Given the description of an element on the screen output the (x, y) to click on. 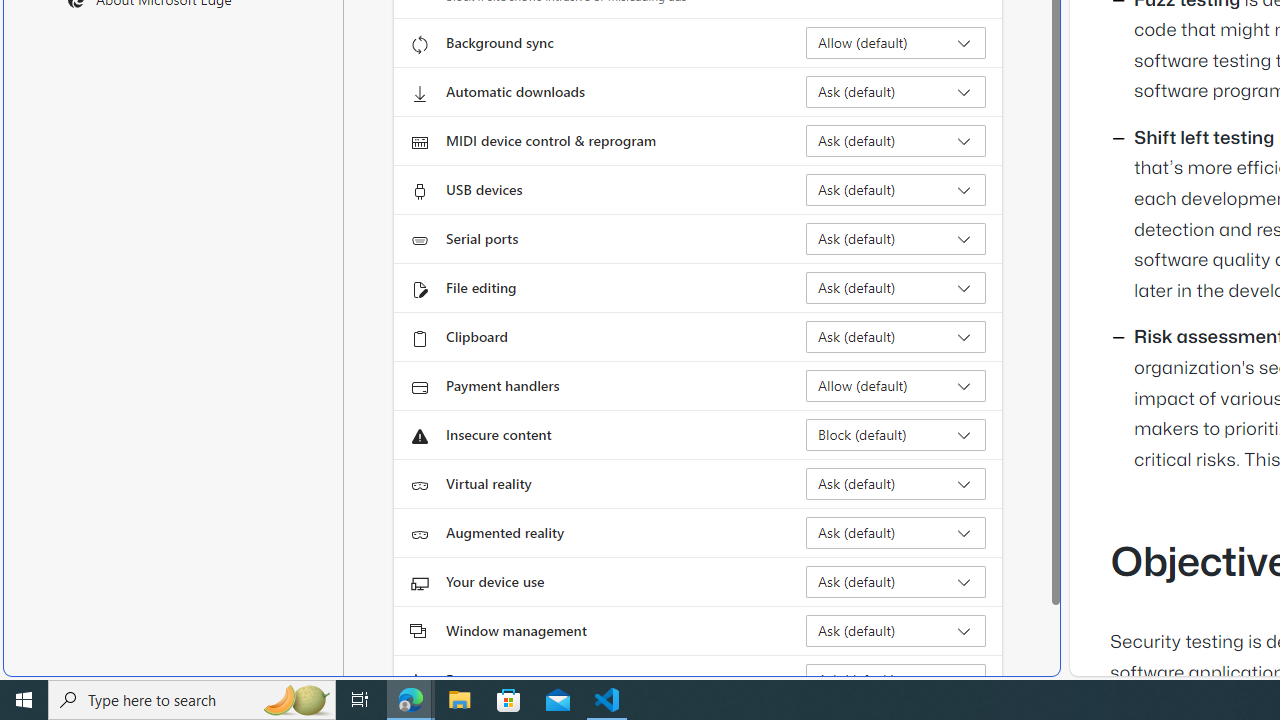
File editing Ask (default) (895, 287)
Virtual reality Ask (default) (895, 483)
Insecure content Block (default) (895, 434)
Window management Ask (default) (895, 630)
Background sync Allow (default) (895, 43)
Augmented reality Ask (default) (895, 532)
Automatic downloads Ask (default) (895, 92)
Clipboard Ask (default) (895, 336)
USB devices Ask (default) (895, 189)
Fonts Ask (default) (895, 679)
MIDI device control & reprogram Ask (default) (895, 140)
Your device use Ask (default) (895, 581)
Payment handlers Allow (default) (895, 385)
Serial ports Ask (default) (895, 238)
